Given the description of an element on the screen output the (x, y) to click on. 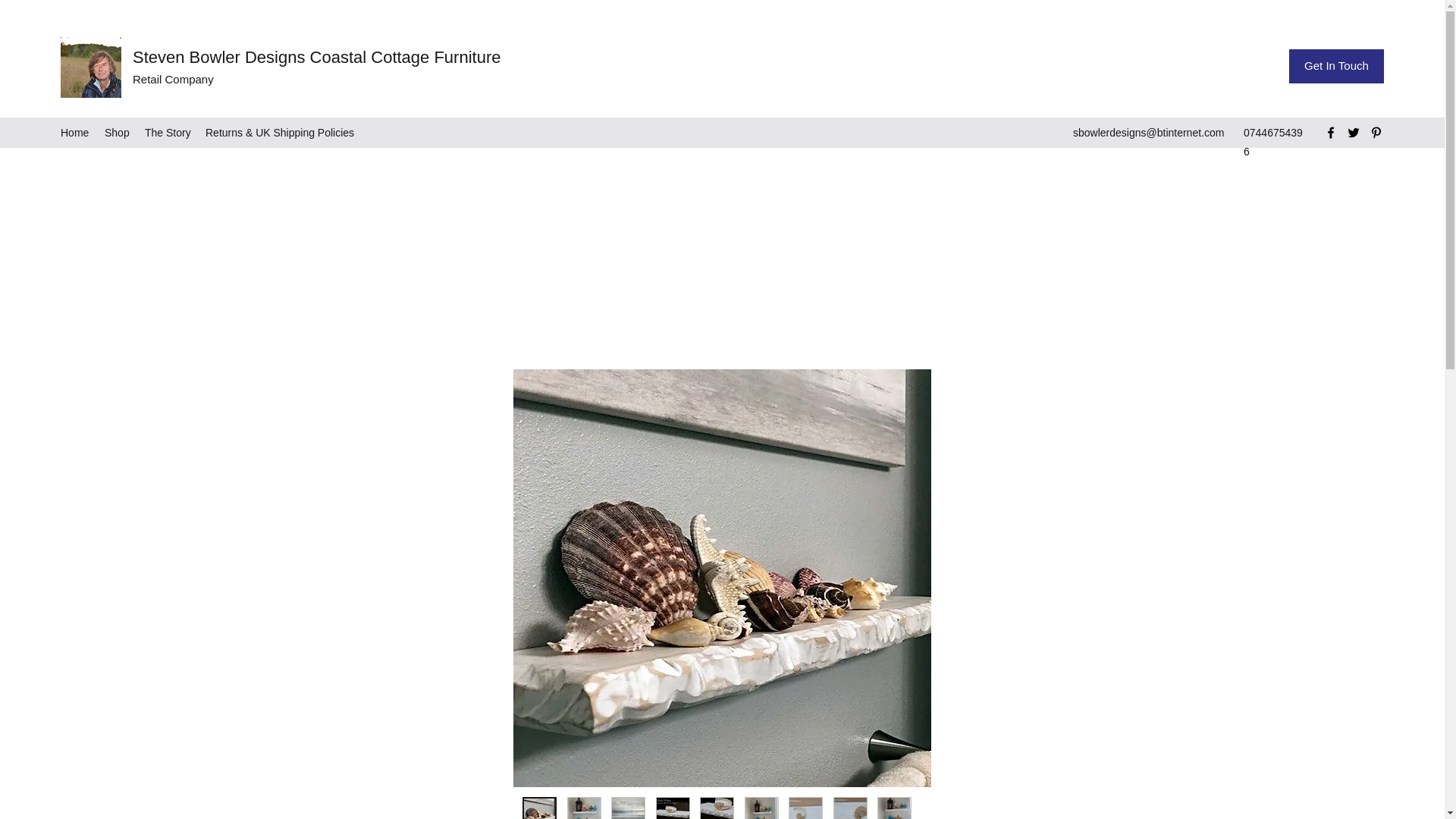
Get In Touch (1336, 66)
Shop (116, 132)
The Story (167, 132)
Steven Bowler Designs Coastal Cottage Furniture (316, 56)
Home (74, 132)
